Given the description of an element on the screen output the (x, y) to click on. 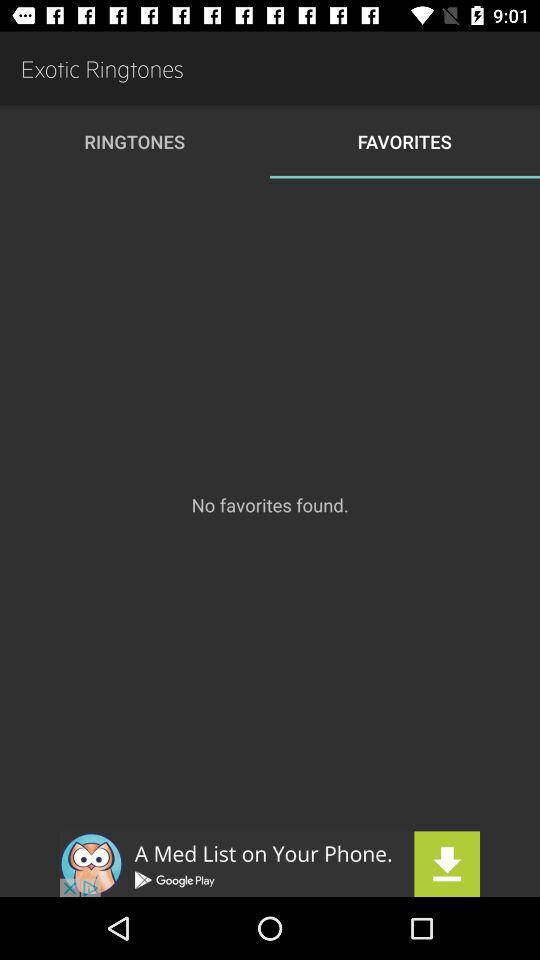
so the advertisement (270, 864)
